Given the description of an element on the screen output the (x, y) to click on. 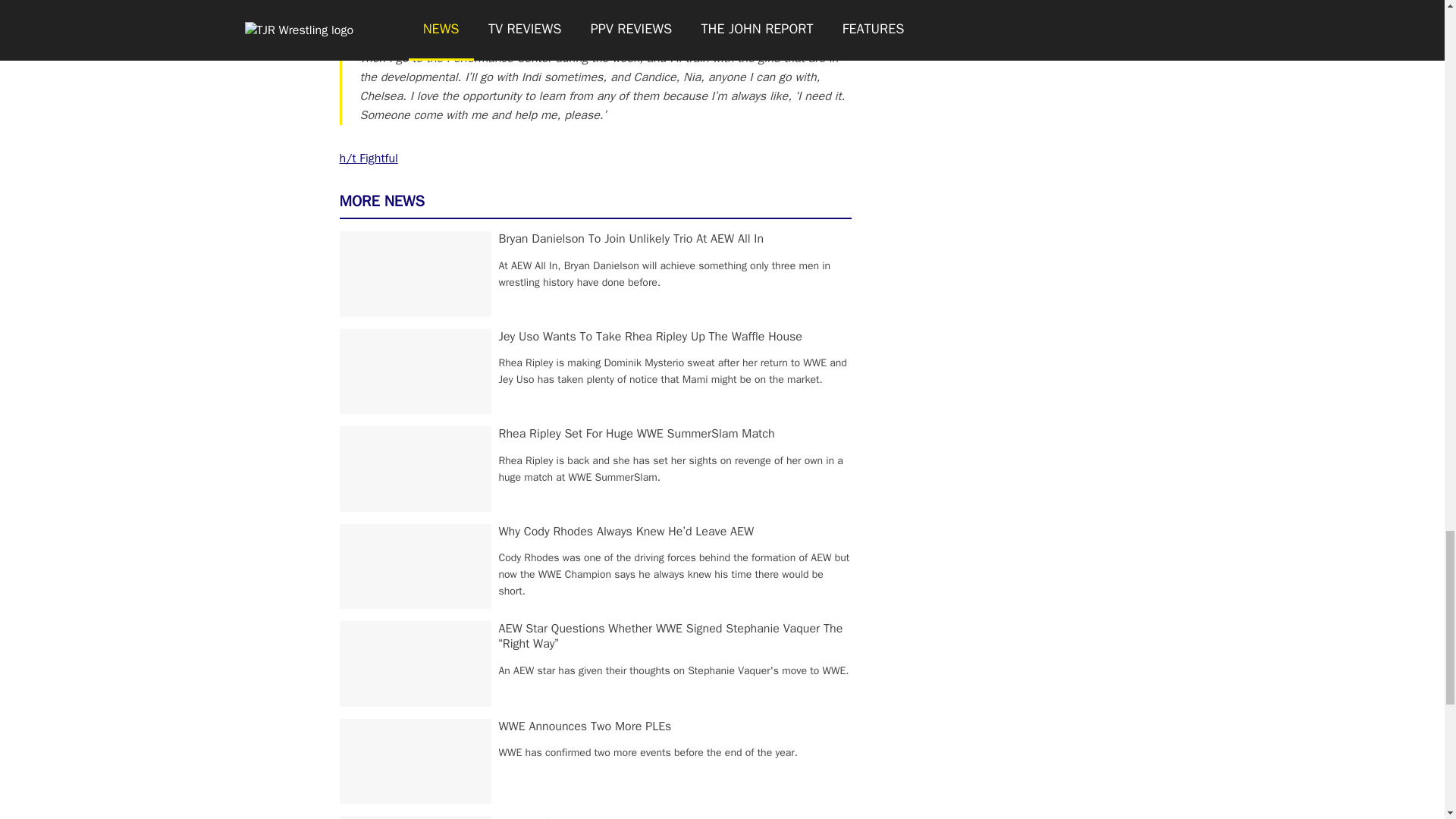
Rhea Ripley Set For Huge WWE SummerSlam Match (636, 433)
WWE Announces Two More PLEs (585, 726)
Jey Uso Wants To Take Rhea Ripley Up The Waffle House (650, 336)
Bryan Danielson To Join Unlikely Trio At AEW All In (631, 238)
